Given the description of an element on the screen output the (x, y) to click on. 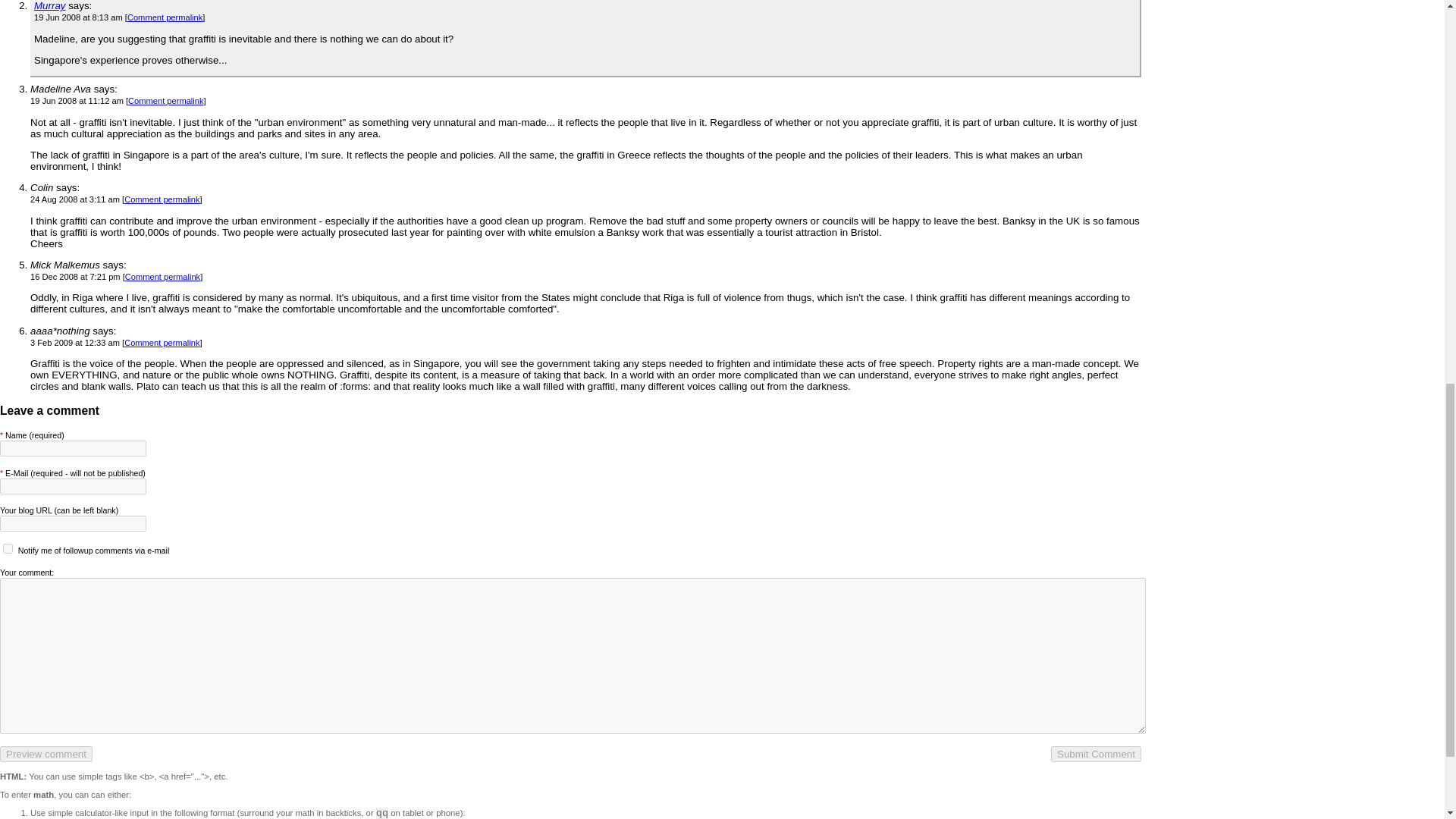
Link directly to this comment (165, 17)
Murray (49, 5)
Link directly to this comment (162, 276)
Link directly to this comment (165, 100)
Comment permalink (165, 17)
Submit Comment (1096, 754)
Link directly to this comment (161, 198)
subscribe (7, 548)
Link directly to this comment (161, 342)
